Given the description of an element on the screen output the (x, y) to click on. 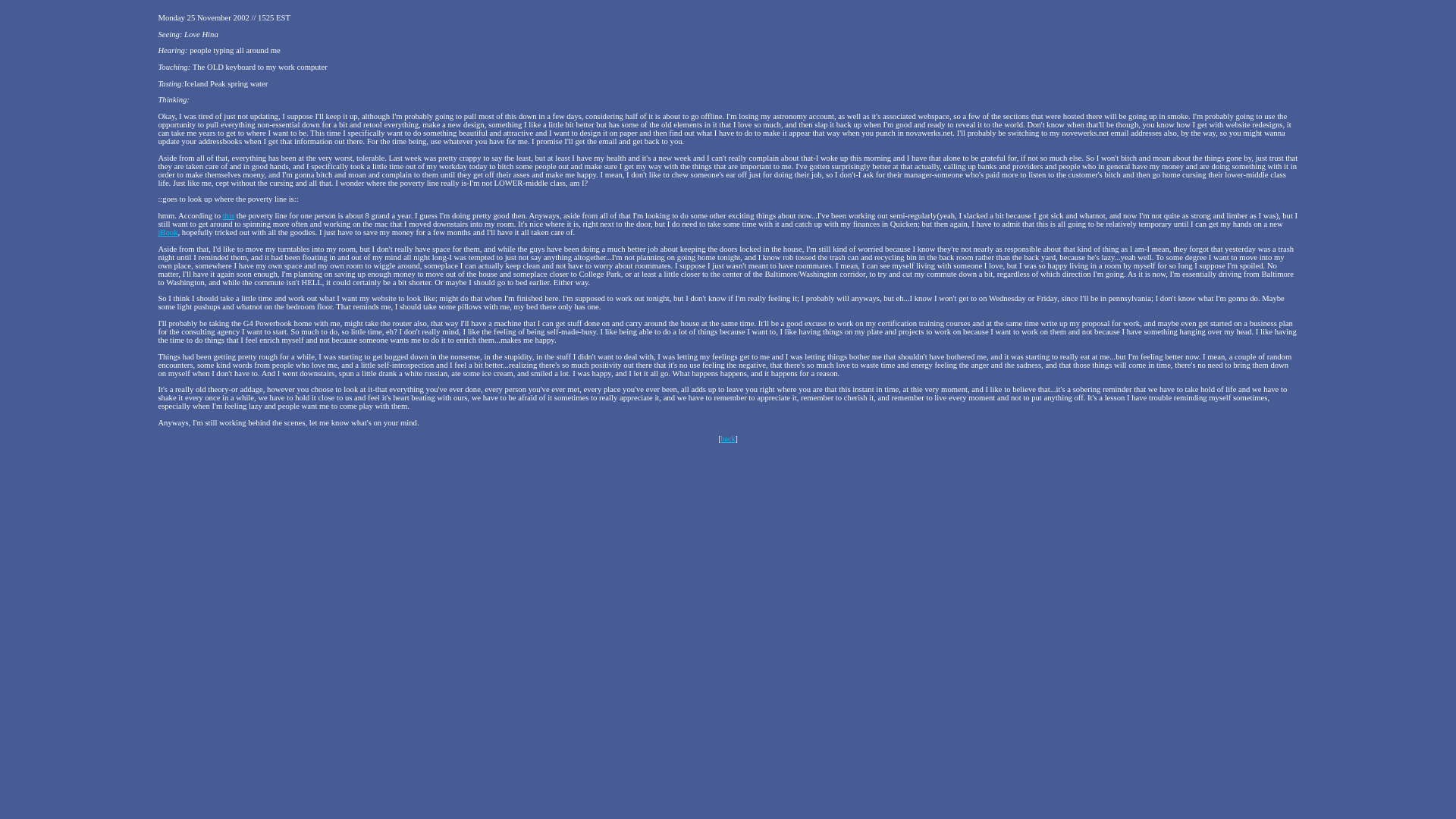
iBook (167, 232)
this (228, 215)
back (727, 438)
